Given the description of an element on the screen output the (x, y) to click on. 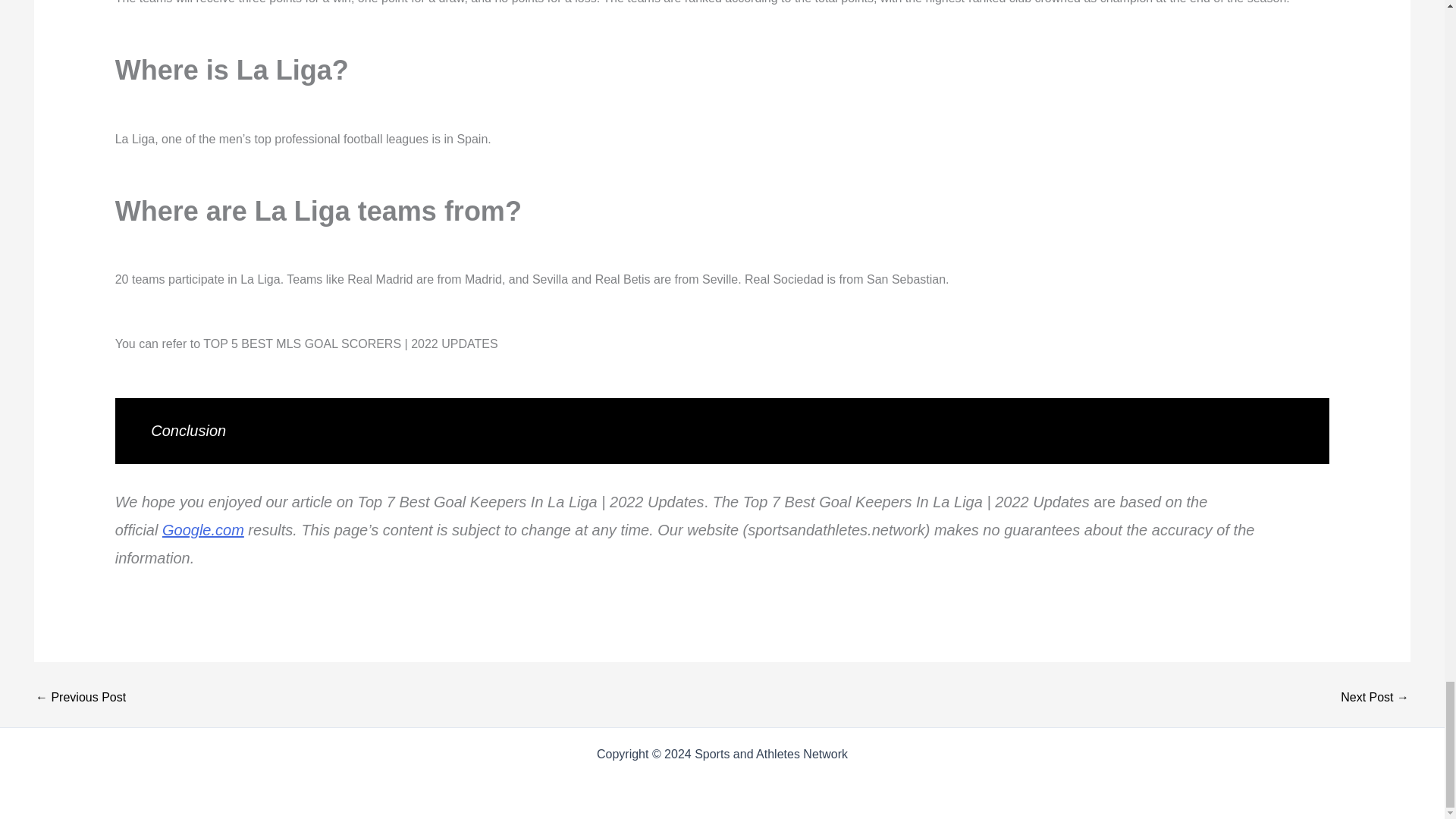
Top 7 Most Visited Football Stadiums In The World (1374, 697)
Google.com (202, 529)
